Given the description of an element on the screen output the (x, y) to click on. 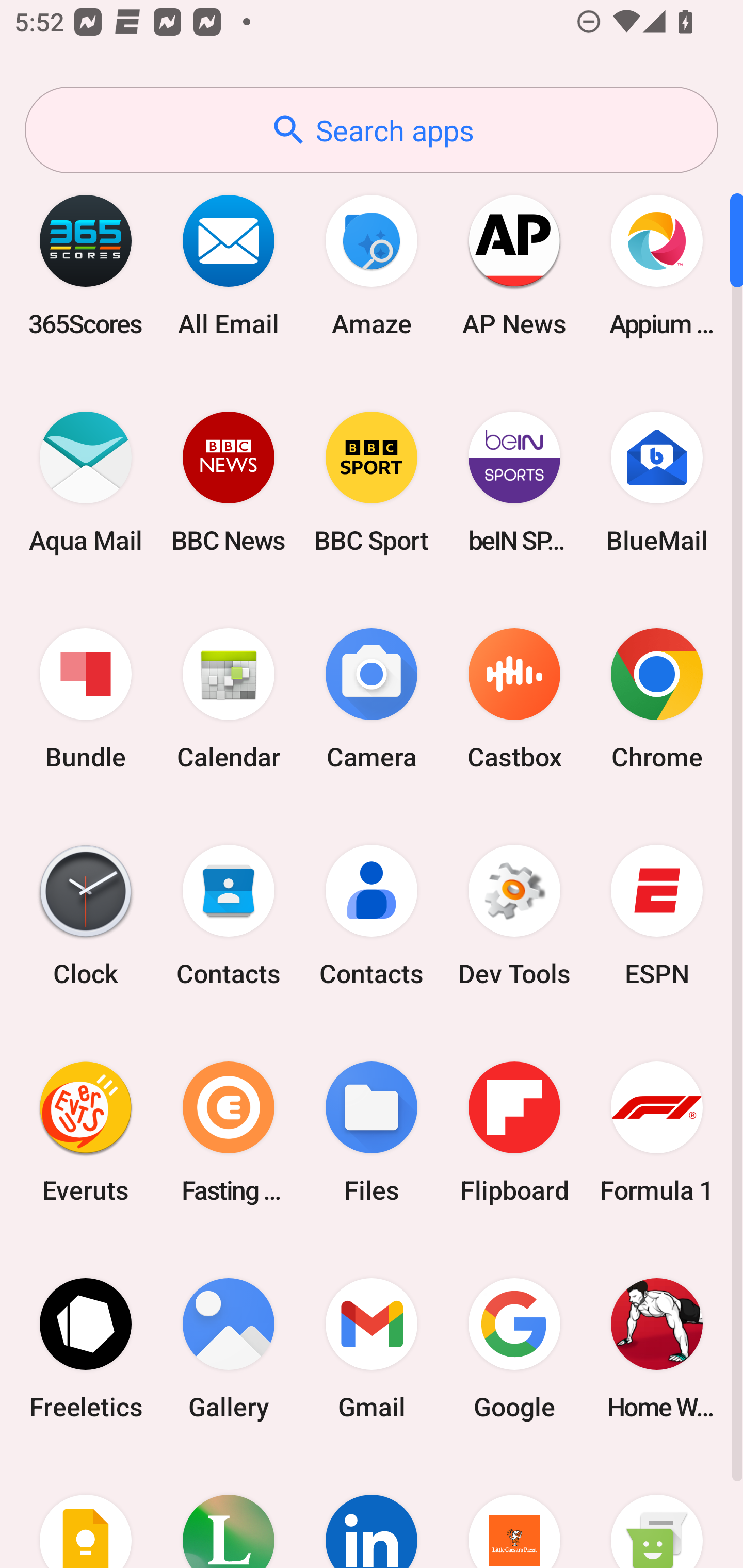
  Search apps (371, 130)
365Scores (85, 264)
All Email (228, 264)
Amaze (371, 264)
AP News (514, 264)
Appium Settings (656, 264)
Aqua Mail (85, 482)
BBC News (228, 482)
BBC Sport (371, 482)
beIN SPORTS (514, 482)
BlueMail (656, 482)
Bundle (85, 699)
Calendar (228, 699)
Camera (371, 699)
Castbox (514, 699)
Chrome (656, 699)
Clock (85, 915)
Contacts (228, 915)
Contacts (371, 915)
Dev Tools (514, 915)
ESPN (656, 915)
Everuts (85, 1131)
Fasting Coach (228, 1131)
Files (371, 1131)
Flipboard (514, 1131)
Formula 1 (656, 1131)
Freeletics (85, 1348)
Gallery (228, 1348)
Gmail (371, 1348)
Google (514, 1348)
Home Workout (656, 1348)
Keep Notes (85, 1512)
Lifesum (228, 1512)
LinkedIn (371, 1512)
Little Caesars Pizza (514, 1512)
Messaging (656, 1512)
